Given the description of an element on the screen output the (x, y) to click on. 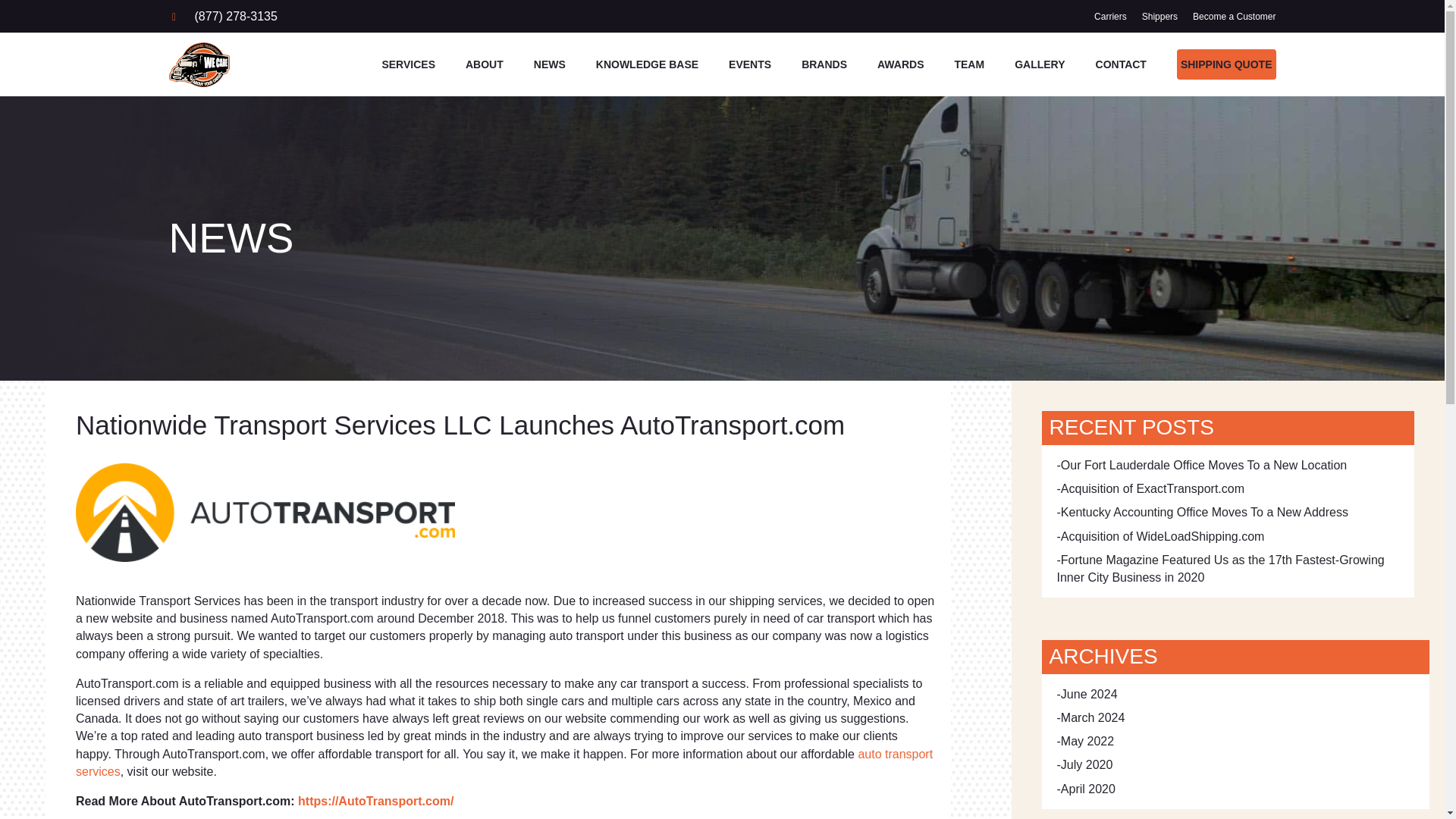
Carriers (1110, 16)
SERVICES (408, 66)
logo-mobile (264, 512)
Nationwide Transport Services Logo (198, 64)
KNOWLEDGE BASE (646, 66)
BRANDS (824, 66)
Shippers (1159, 16)
ABOUT (484, 66)
Become a Customer (1233, 16)
EVENTS (750, 66)
NEWS (550, 66)
